Given the description of an element on the screen output the (x, y) to click on. 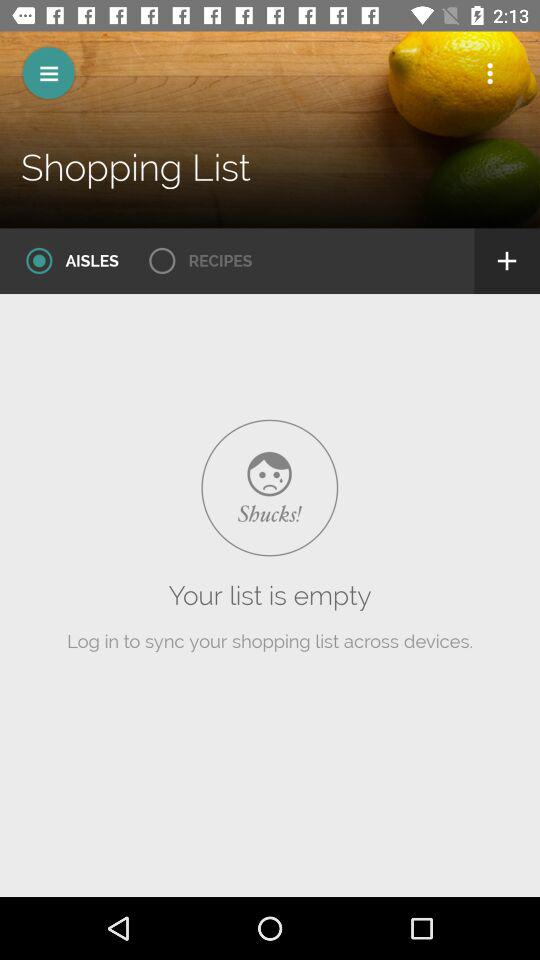
deselect aisles (65, 261)
